Given the description of an element on the screen output the (x, y) to click on. 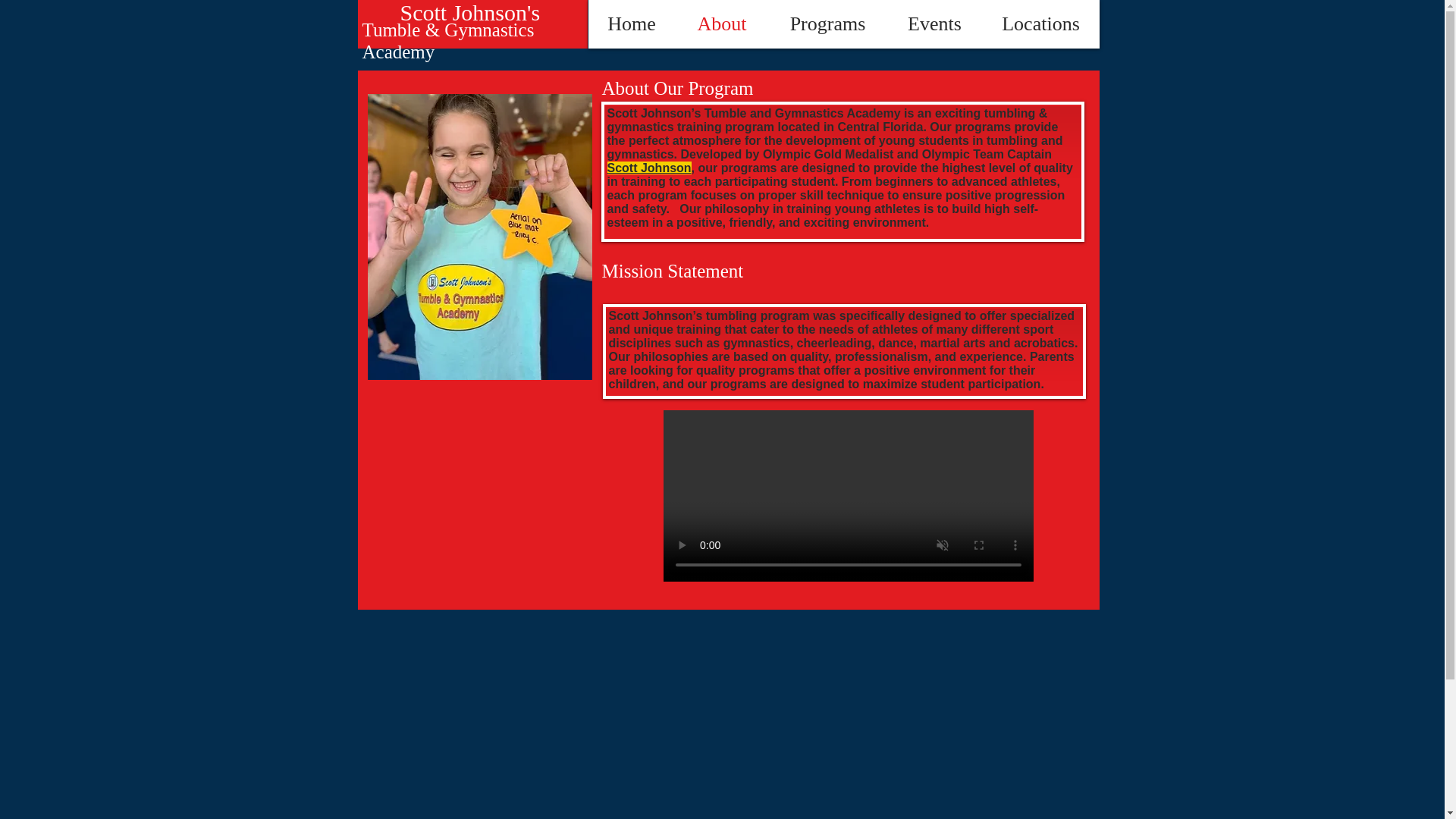
Scott Johnson's (470, 12)
About (721, 24)
Scott Johnson (648, 167)
Home (631, 24)
